Given the description of an element on the screen output the (x, y) to click on. 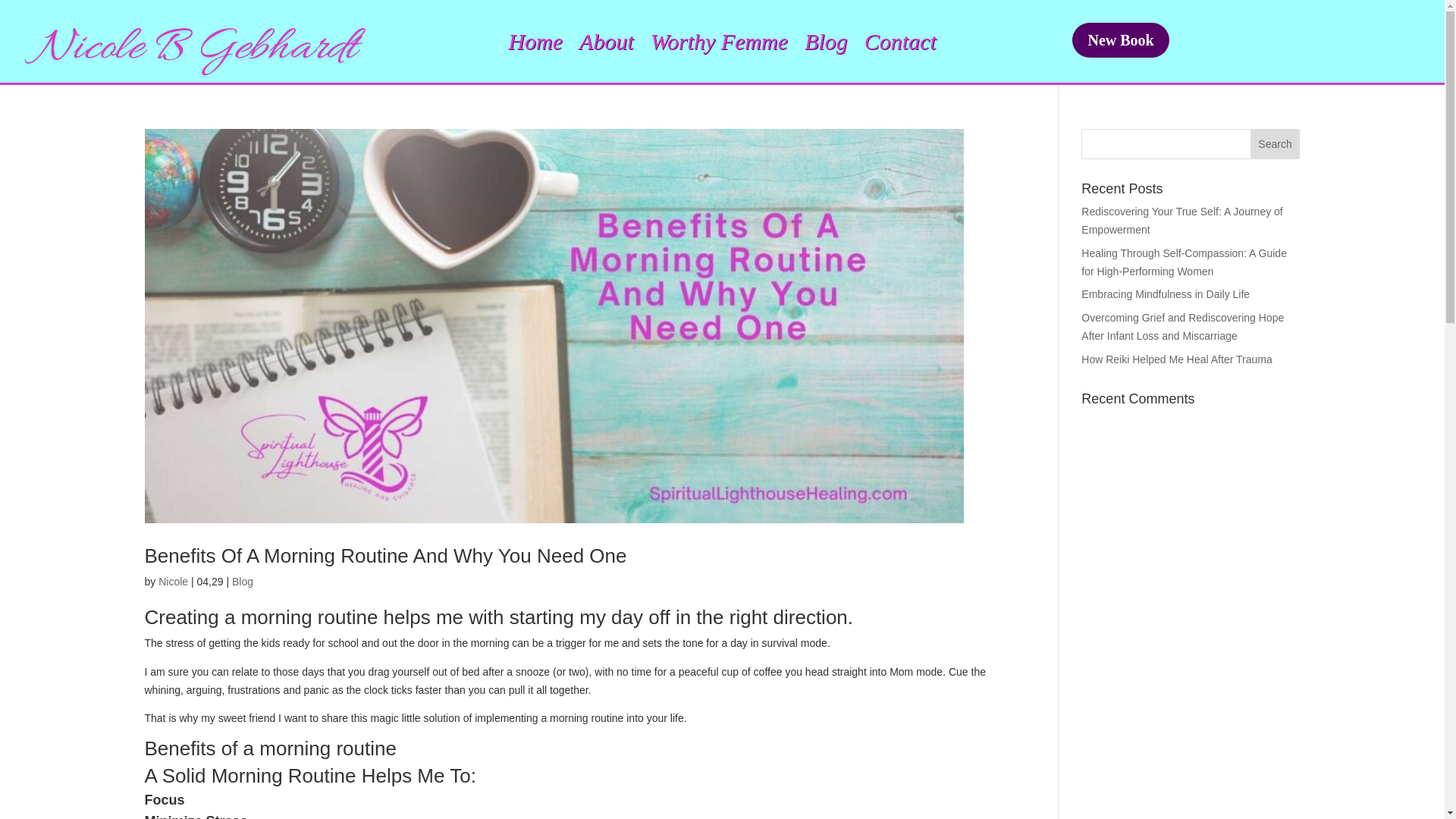
How Reiki Helped Me Heal After Trauma (1176, 358)
Search (1275, 143)
Rediscovering Your True Self: A Journey of Empowerment (1181, 220)
Blog (826, 44)
Embracing Mindfulness in Daily Life (1165, 294)
New Book (1120, 39)
Search (1275, 143)
Nicole B Gebhardt author (196, 48)
